Given the description of an element on the screen output the (x, y) to click on. 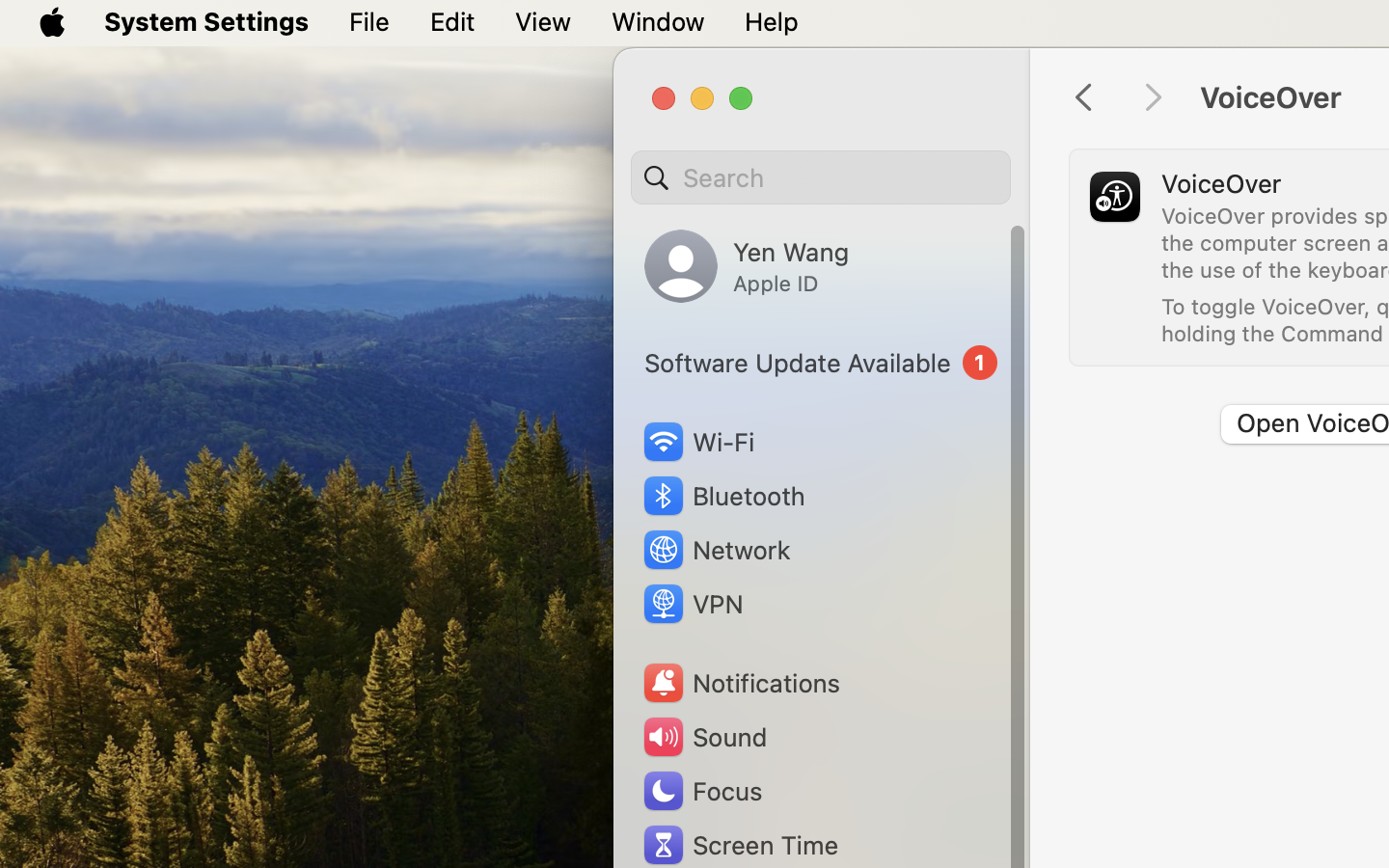
VPN Element type: AXStaticText (691, 603)
Yen Wang, Apple ID Element type: AXStaticText (746, 265)
Bluetooth Element type: AXStaticText (723, 495)
Network Element type: AXStaticText (715, 549)
Notifications Element type: AXStaticText (740, 682)
